Given the description of an element on the screen output the (x, y) to click on. 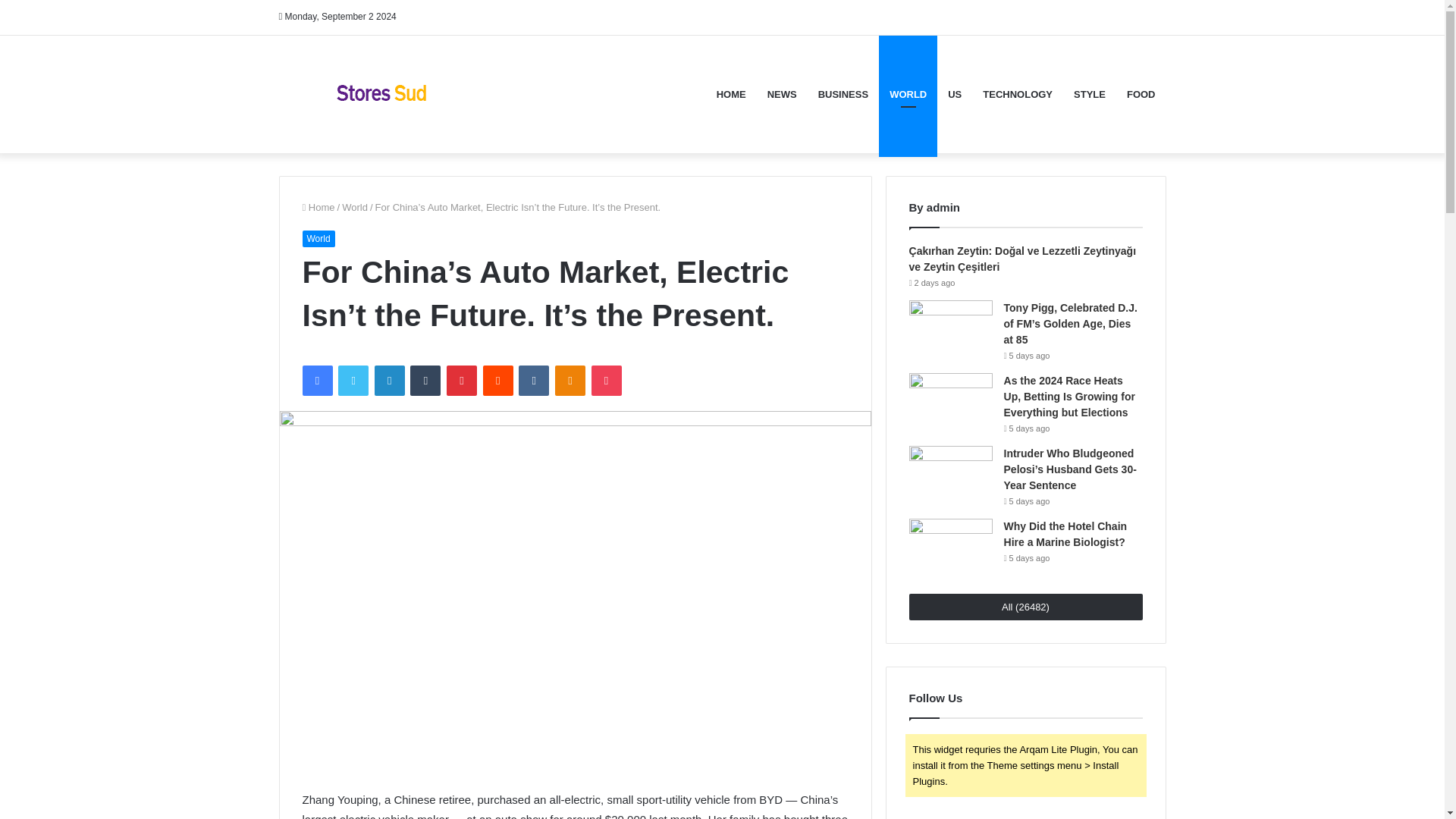
Odnoklassniki (569, 380)
Pocket (606, 380)
World (317, 238)
Twitter (352, 380)
Facebook (316, 380)
LinkedIn (389, 380)
World (355, 206)
VKontakte (533, 380)
Facebook (316, 380)
Reddit (498, 380)
